Given the description of an element on the screen output the (x, y) to click on. 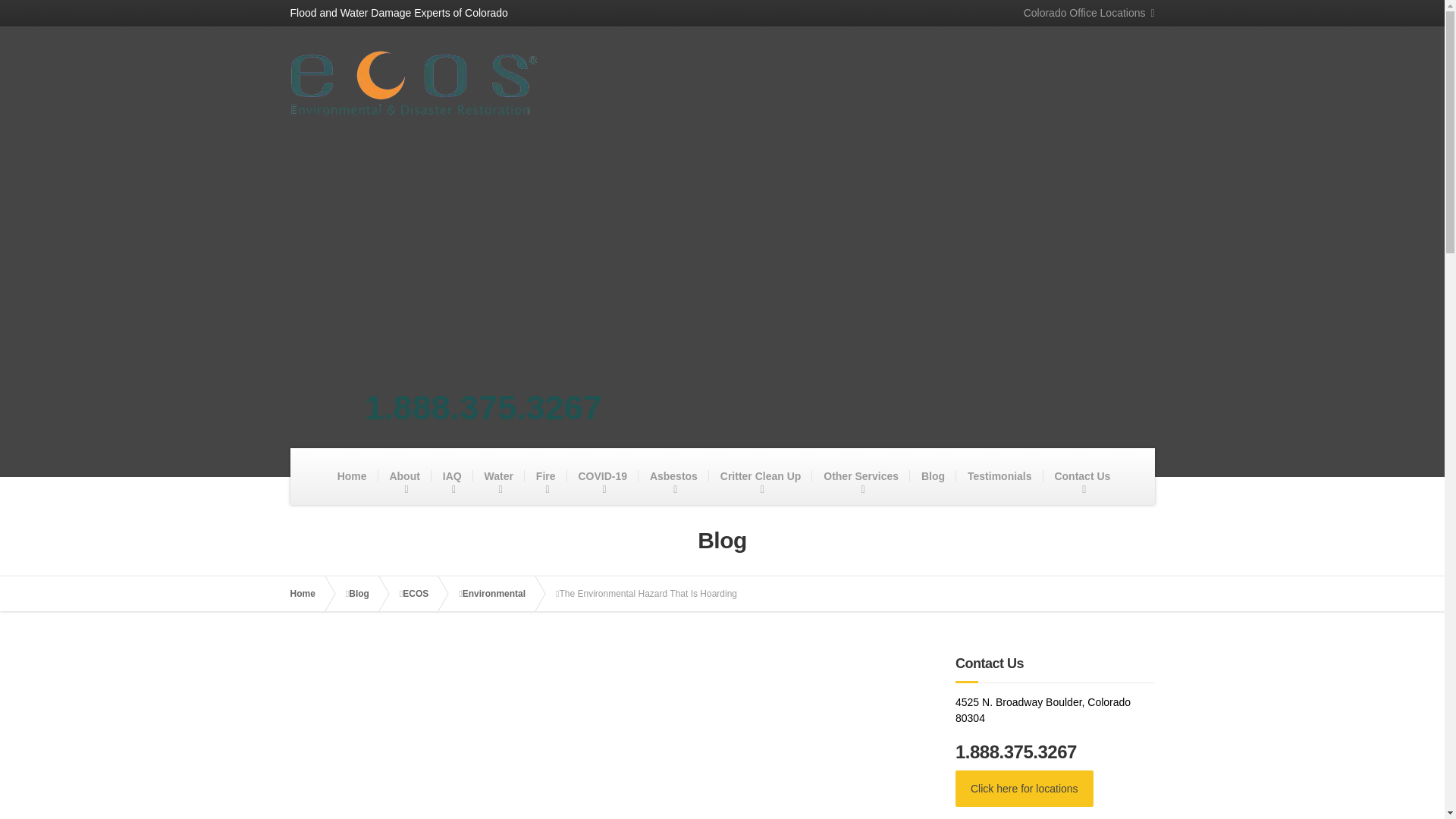
10 years of excellence based on this award (381, 215)
Home (352, 475)
About (403, 475)
Go to the ECOS category archives. (423, 593)
1.888.375.3267 (483, 407)
Colorado Office Locations (1082, 13)
IICRC Certified (801, 215)
Water (498, 475)
Go to Blog. (366, 593)
Go to the Environmental category archives. (501, 593)
